Given the description of an element on the screen output the (x, y) to click on. 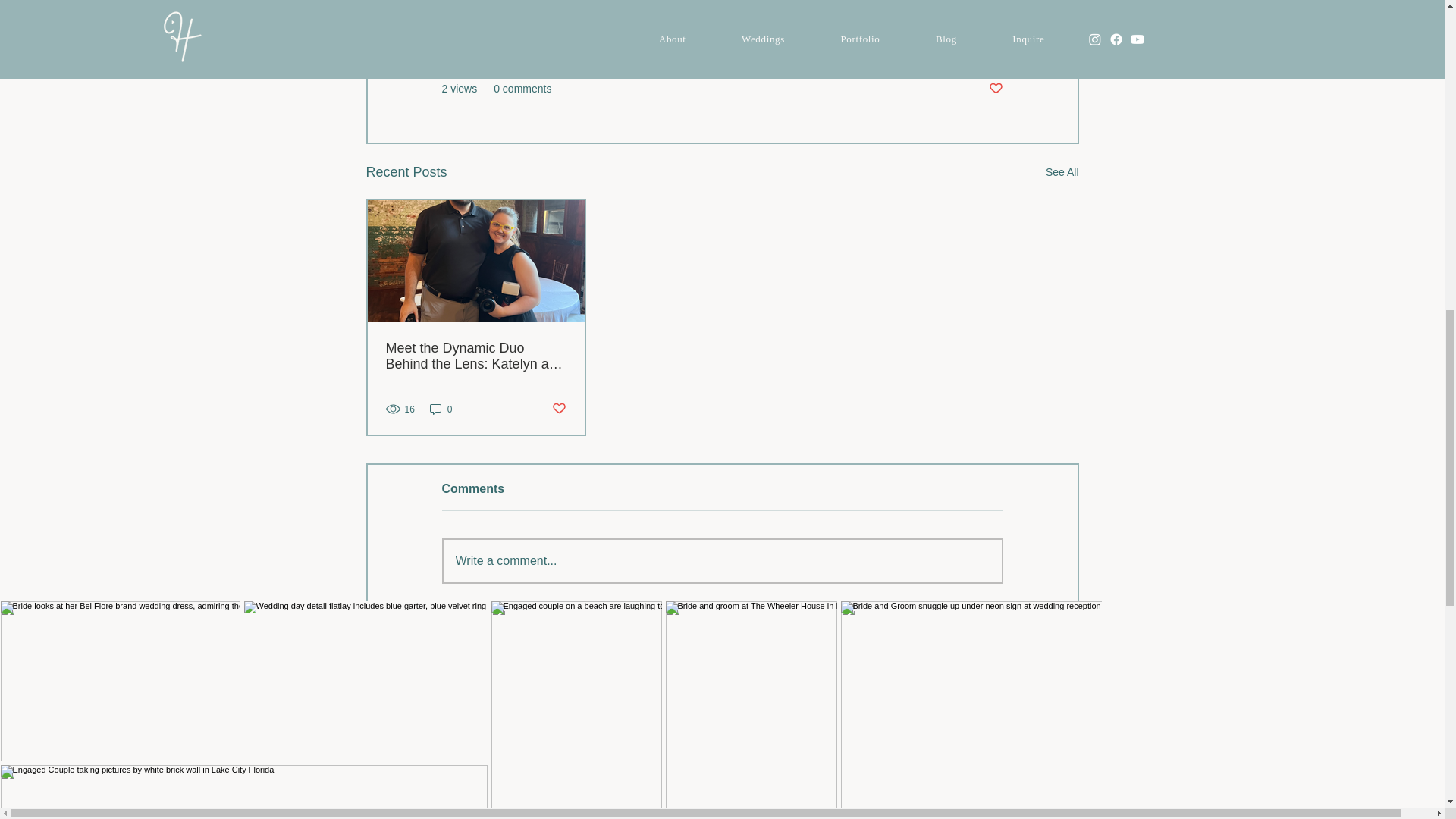
Meet the Dynamic Duo Behind the Lens: Katelyn and Matt Pike (475, 356)
Write a comment... (721, 560)
Post not marked as liked (558, 408)
See All (1061, 172)
0 (441, 409)
Post not marked as liked (995, 89)
